Given the description of an element on the screen output the (x, y) to click on. 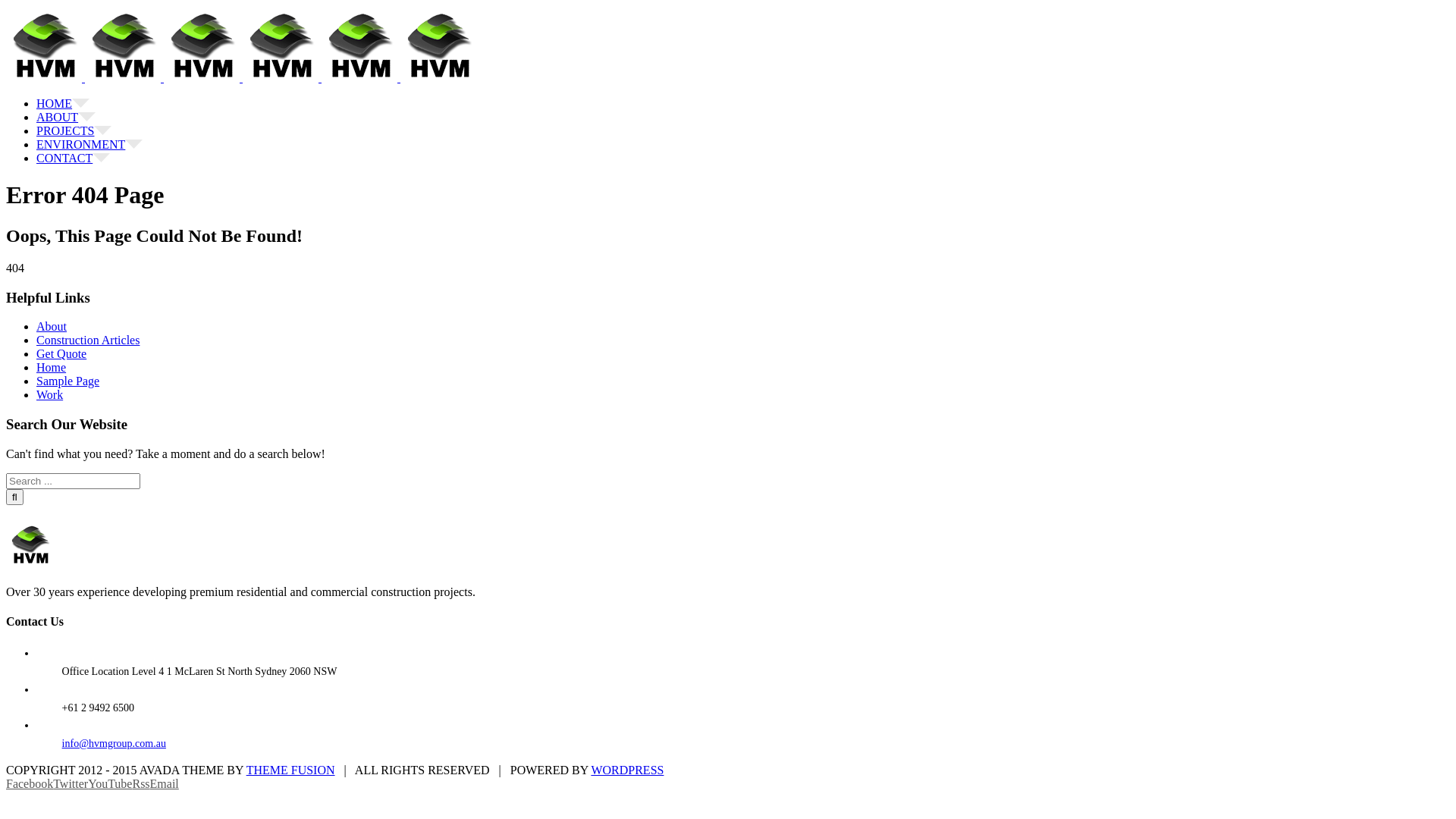
Facebook Element type: text (29, 783)
Sample Page Element type: text (67, 380)
Rss Element type: text (140, 783)
Email Element type: text (164, 783)
Get Quote Element type: text (61, 353)
ENVIRONMENT Element type: text (89, 144)
HOME Element type: text (62, 103)
About Element type: text (51, 326)
WORDPRESS Element type: text (626, 769)
YouTube Element type: text (109, 783)
info@hvmgroup.com.au Element type: text (114, 743)
ABOUT Element type: text (65, 116)
THEME FUSION Element type: text (290, 769)
Work Element type: text (49, 394)
Twitter Element type: text (70, 783)
PROJECTS Element type: text (73, 130)
Home Element type: text (50, 366)
Construction Articles Element type: text (87, 339)
CONTACT Element type: text (72, 157)
